Given the description of an element on the screen output the (x, y) to click on. 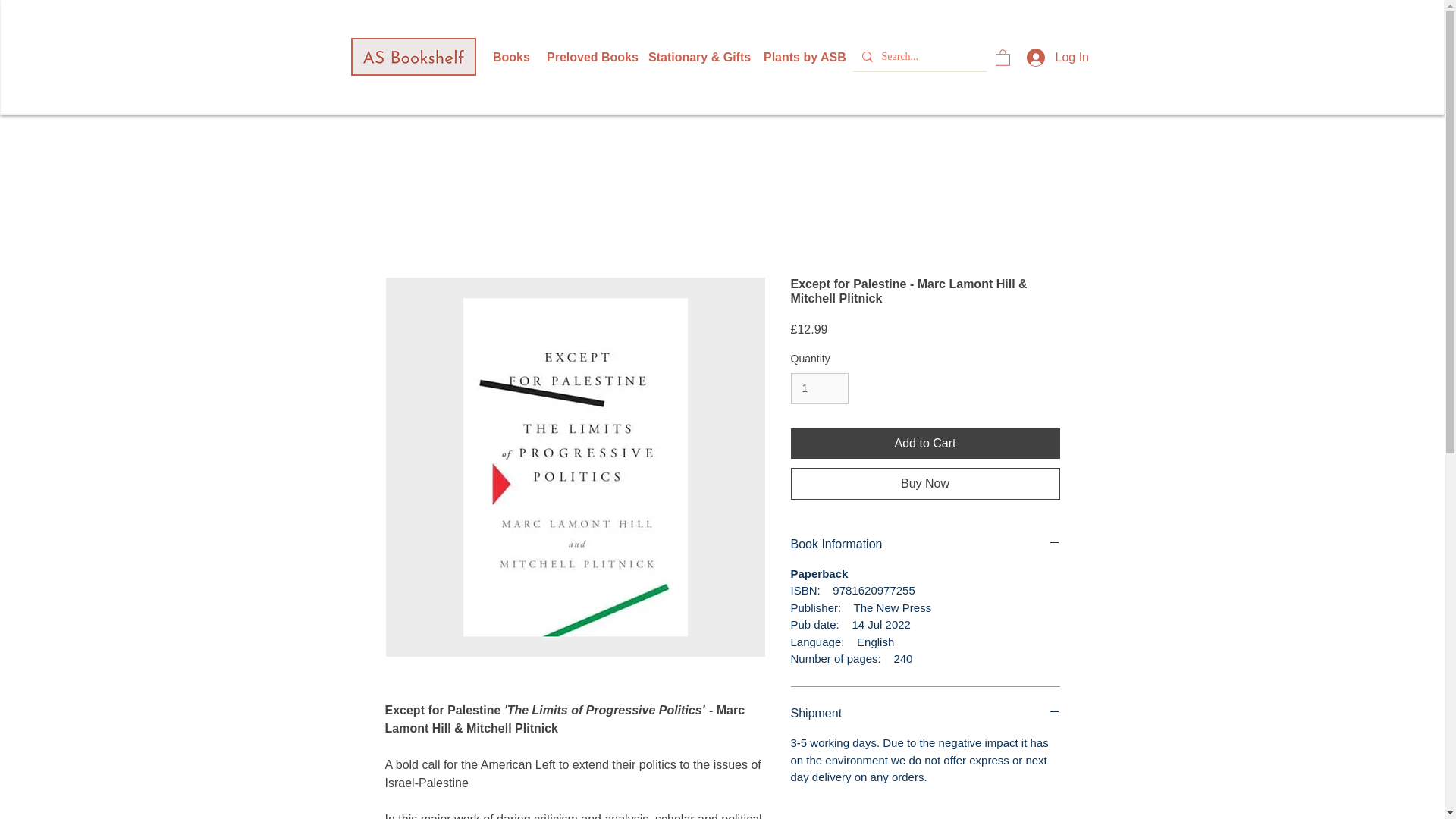
Shipment (924, 713)
Add to Cart (924, 443)
Book Information (924, 544)
Plants by ASB (799, 57)
1 (818, 388)
Books (508, 57)
Preloved Books (586, 57)
Buy Now (924, 483)
Log In (1055, 57)
